Given the description of an element on the screen output the (x, y) to click on. 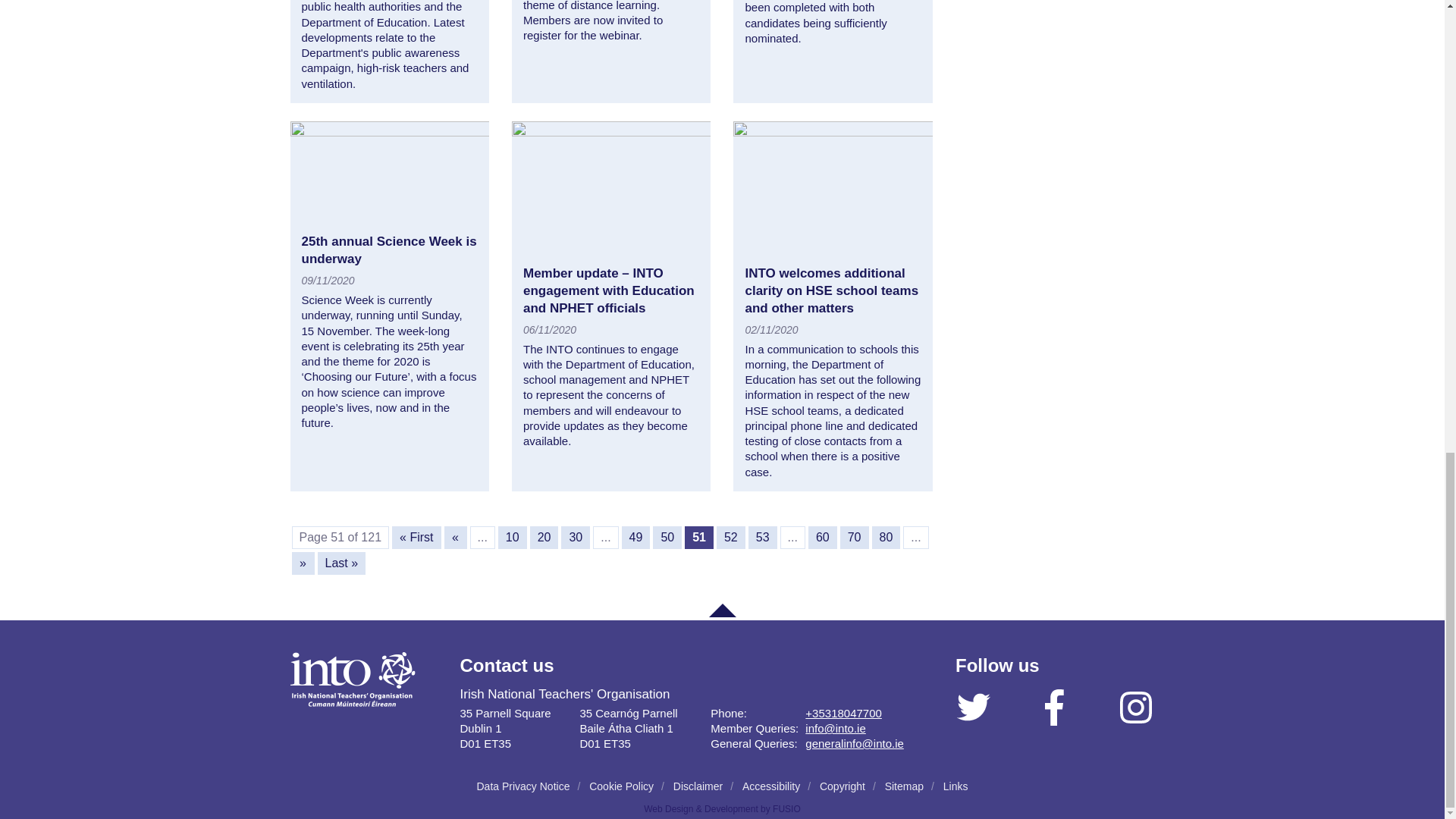
Page 30 (574, 537)
60 (822, 537)
Page 60 (822, 537)
Page 49 (635, 537)
20 (544, 537)
53 (762, 537)
Page 80 (886, 537)
Page 20 (544, 537)
30 (574, 537)
Back to top (721, 610)
Page 52 (730, 537)
Page 53 (762, 537)
70 (854, 537)
Page 10 (512, 537)
10 (512, 537)
